Given the description of an element on the screen output the (x, y) to click on. 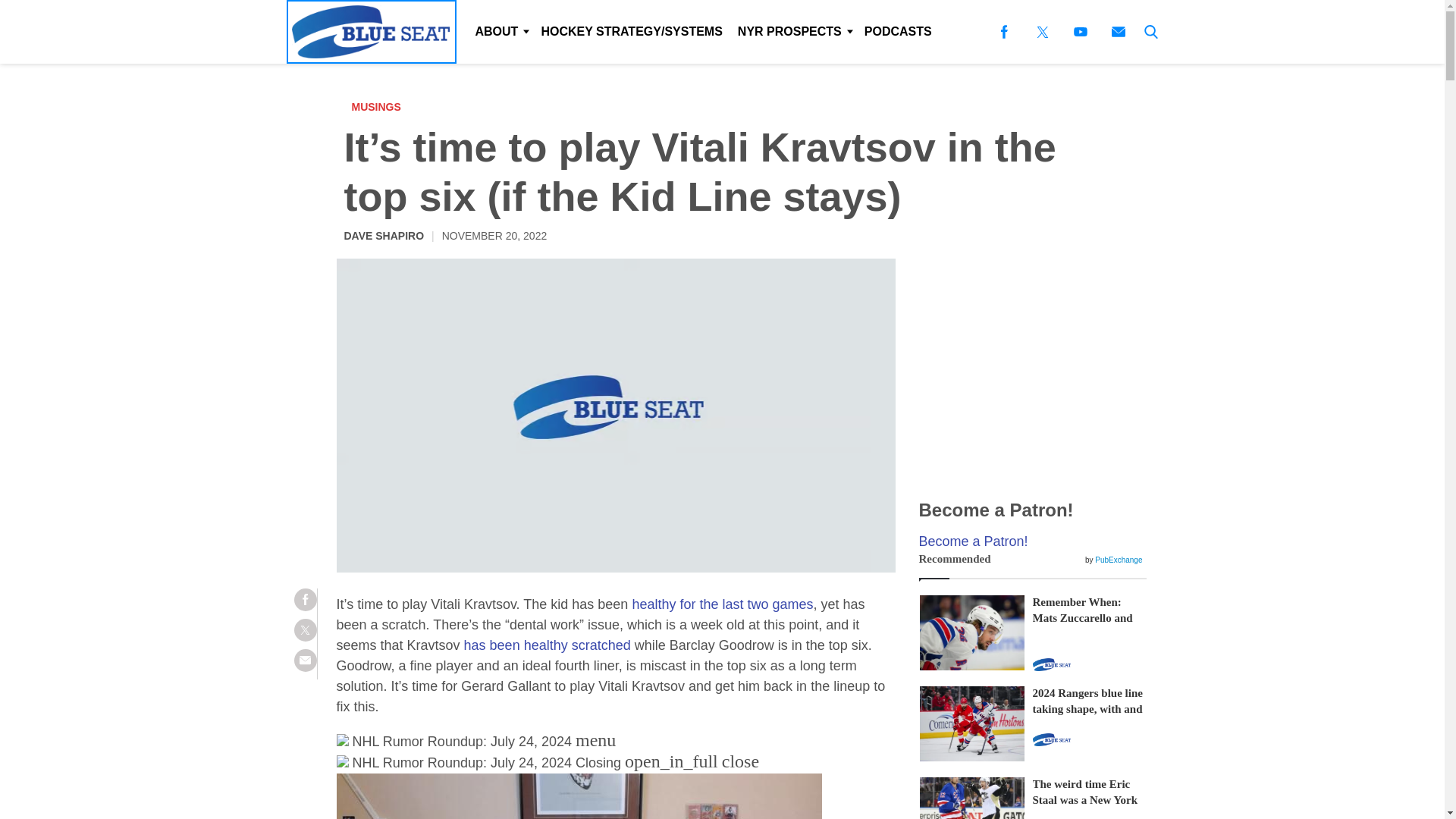
PODCASTS (898, 31)
DAVE SHAPIRO (384, 235)
Share on Twitter (305, 630)
NYR PROSPECTS (793, 31)
Share via Email (305, 660)
Share on Facebook (305, 599)
ABOUT (499, 31)
healthy for the last two games (721, 604)
MUSINGS (380, 106)
Posts by Dave Shapiro (384, 235)
Advertisement (1032, 366)
has been healthy scratched (547, 645)
